Given the description of an element on the screen output the (x, y) to click on. 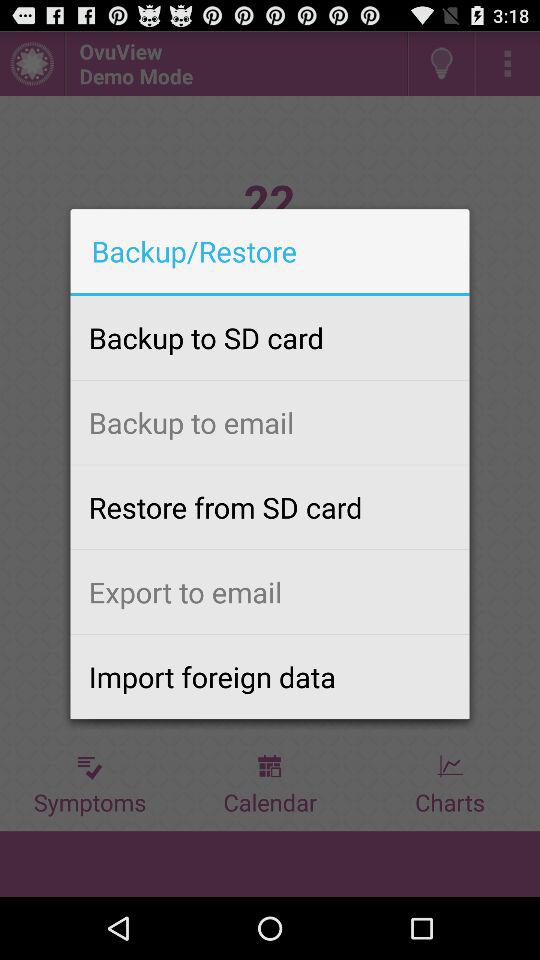
open item below the export to email item (269, 676)
